Given the description of an element on the screen output the (x, y) to click on. 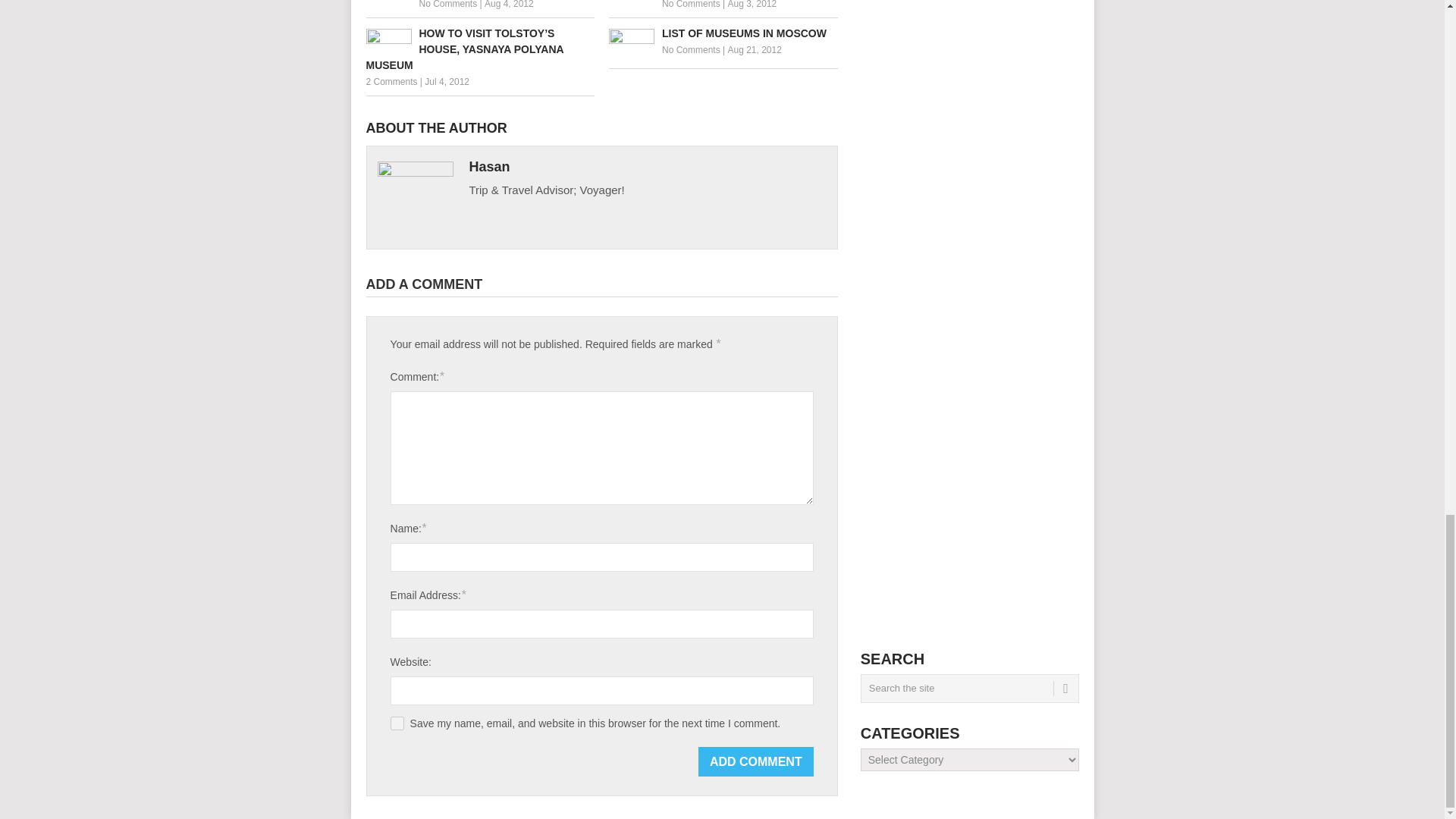
No Comments (691, 4)
2 Comments (390, 81)
LIST OF MUSEUMS IN MOSCOW (723, 33)
No Comments (448, 4)
Add Comment (755, 761)
List of Museums in Moscow (723, 33)
Add Comment (755, 761)
No Comments (691, 50)
yes (397, 723)
Search the site (969, 688)
